Given the description of an element on the screen output the (x, y) to click on. 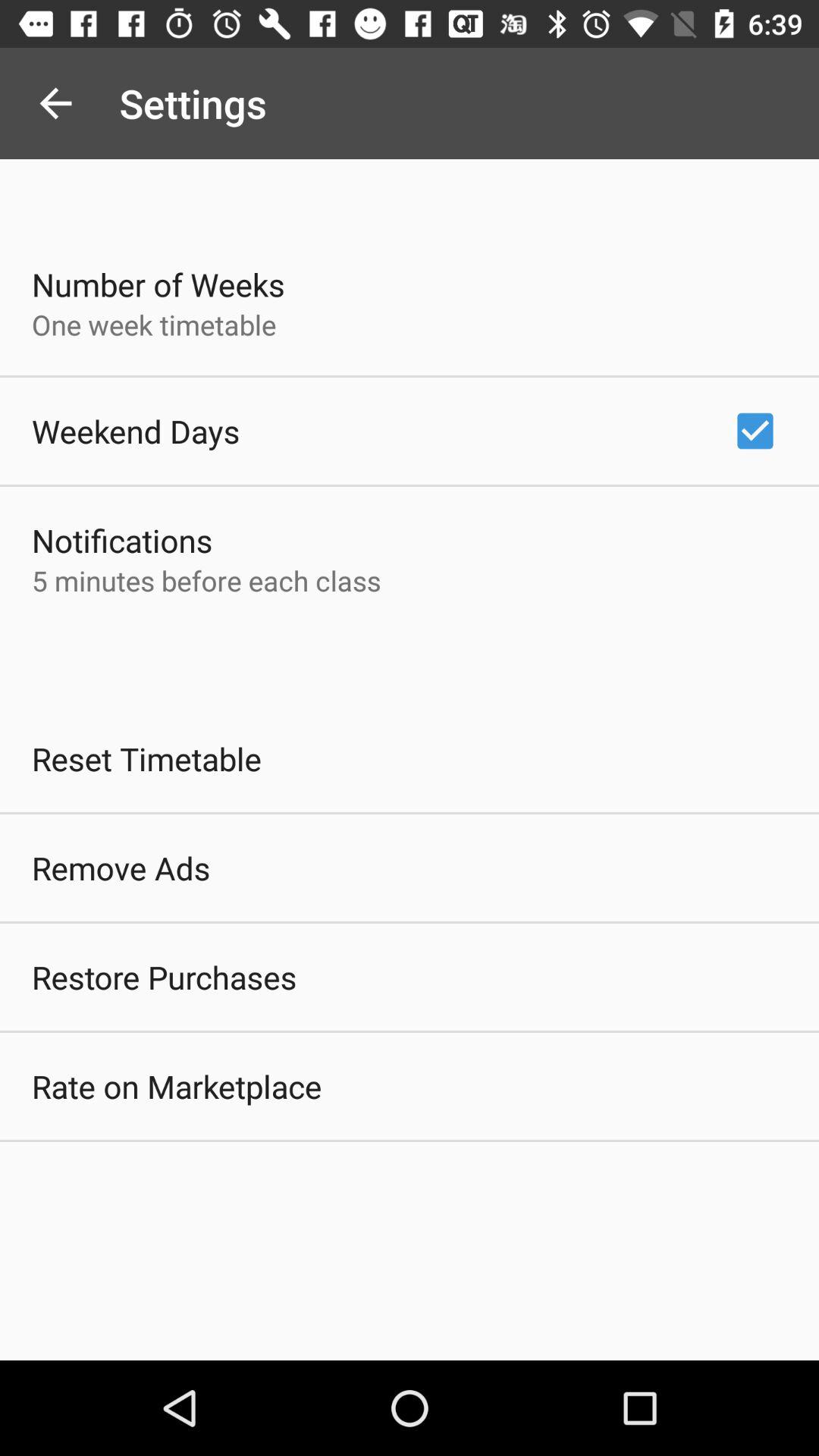
press icon to the left of settings app (55, 103)
